Given the description of an element on the screen output the (x, y) to click on. 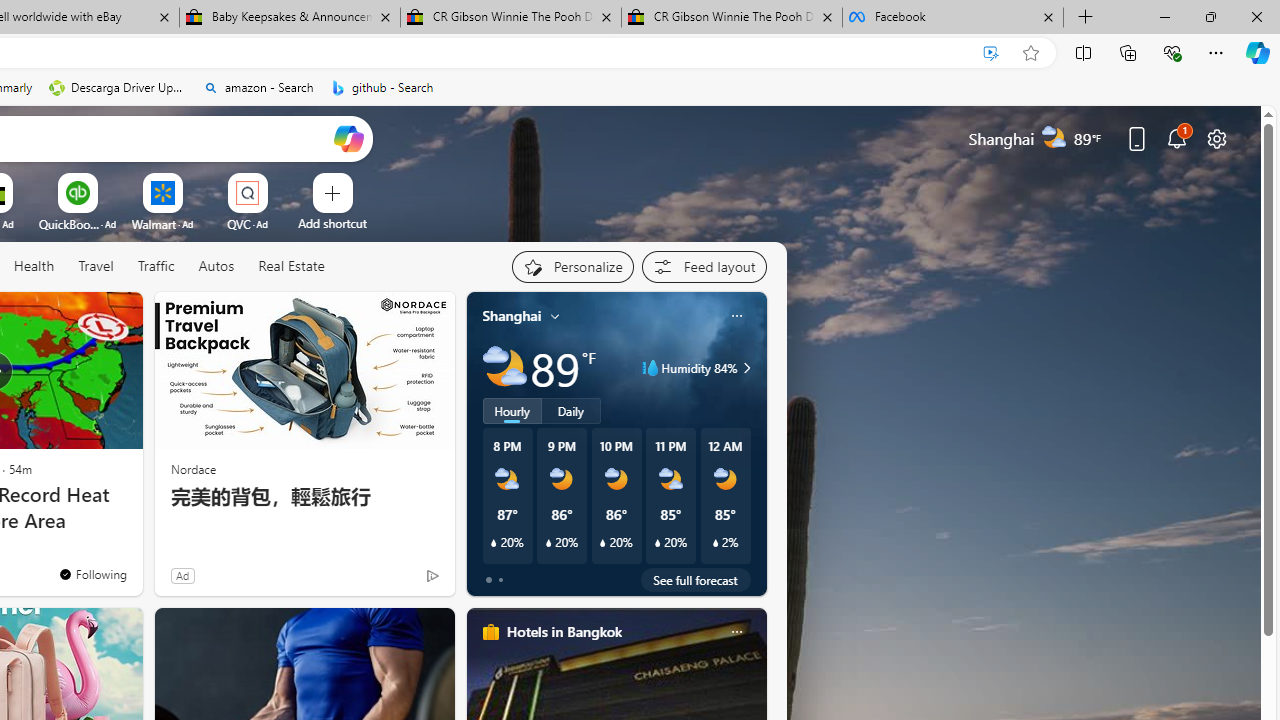
tab-0 (488, 579)
Facebook (953, 17)
Travel (95, 265)
Health (33, 267)
Class: icon-img (736, 632)
Autos (216, 267)
See full forecast (695, 579)
Partly cloudy (504, 368)
